Given the description of an element on the screen output the (x, y) to click on. 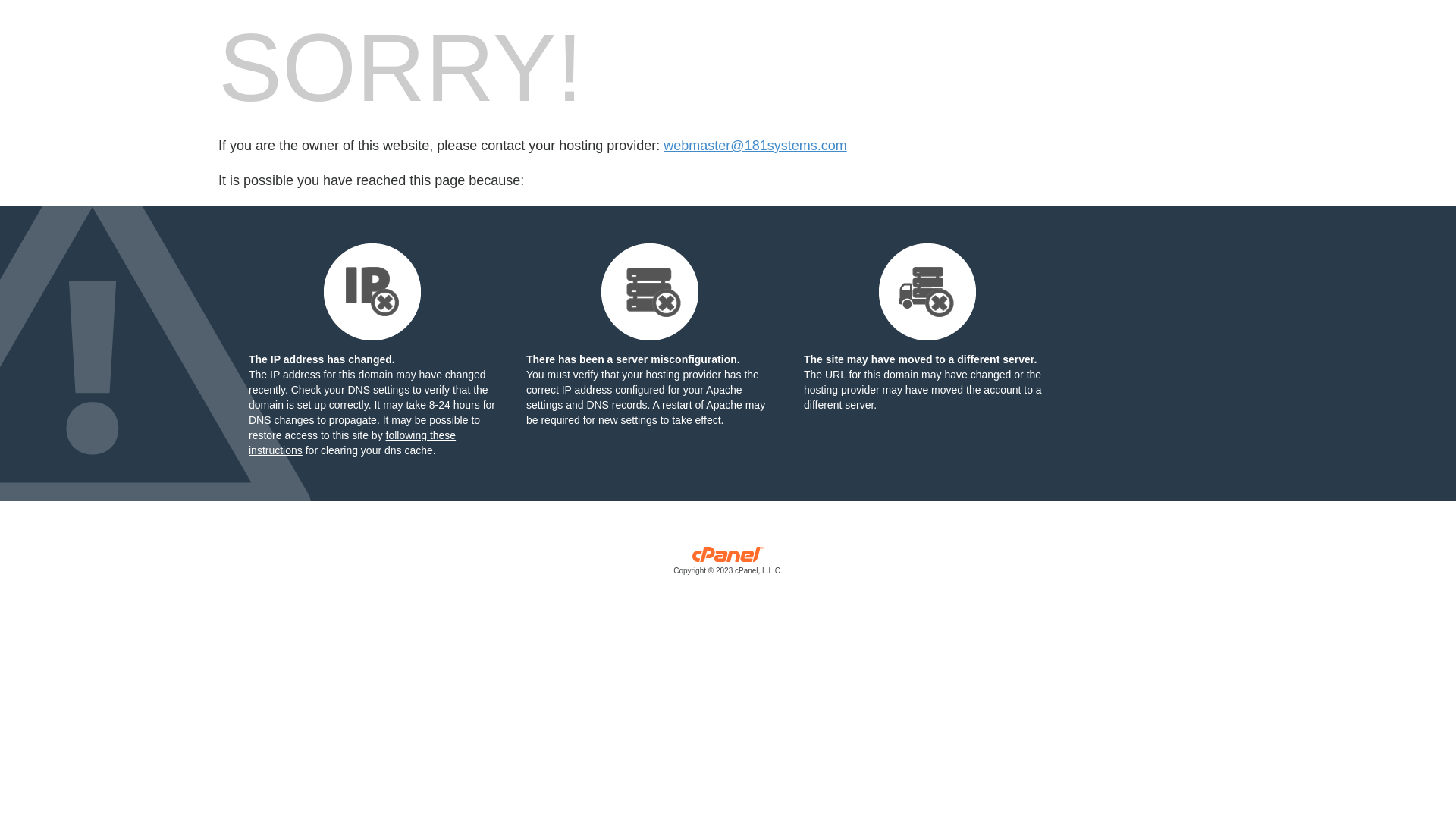
following these instructions Element type: text (351, 442)
webmaster@181systems.com Element type: text (754, 145)
